Given the description of an element on the screen output the (x, y) to click on. 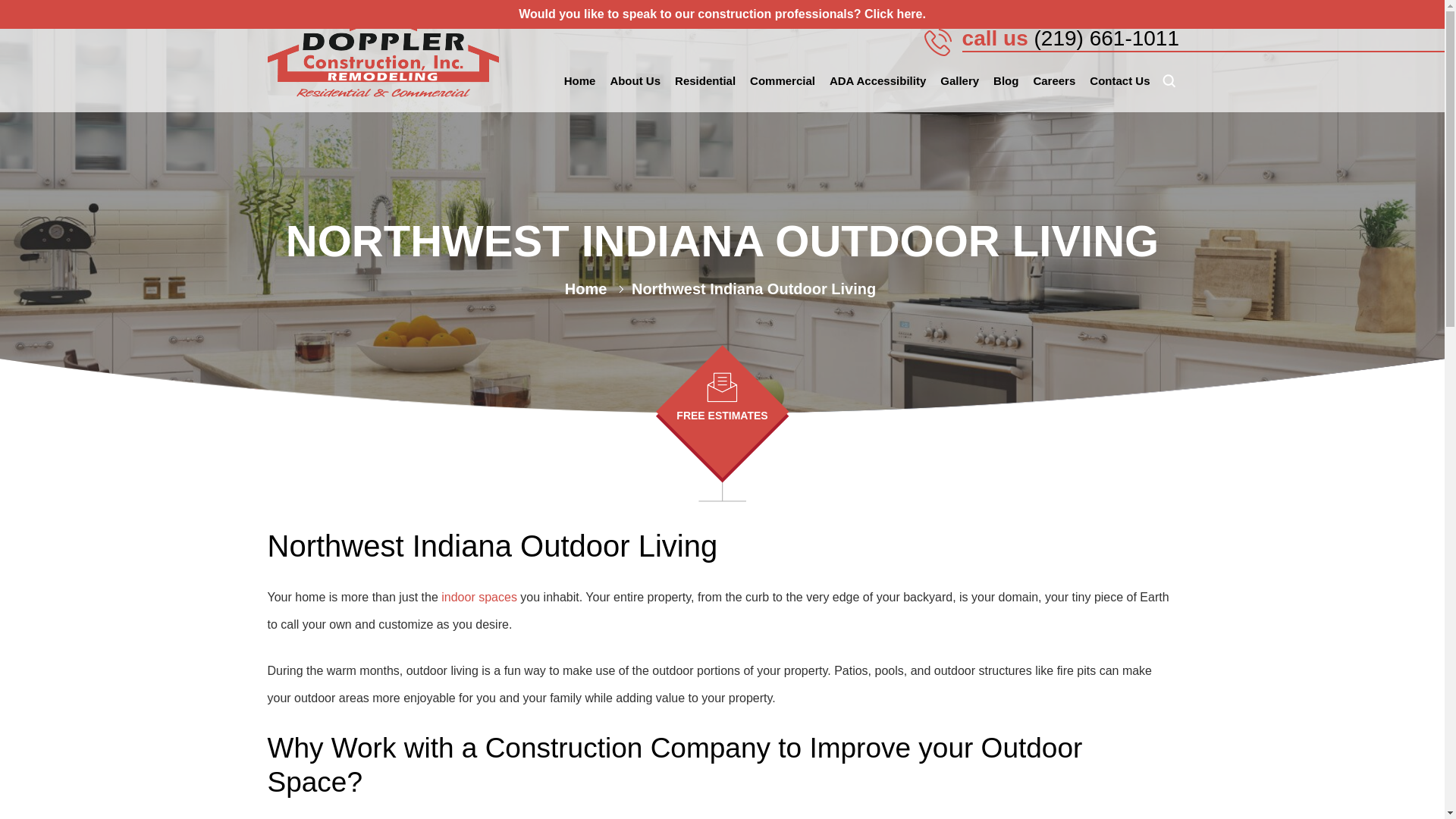
Go to Doppler Construction. (585, 288)
About Us (634, 80)
Home (579, 80)
Residential (705, 80)
Commercial (782, 80)
